Given the description of an element on the screen output the (x, y) to click on. 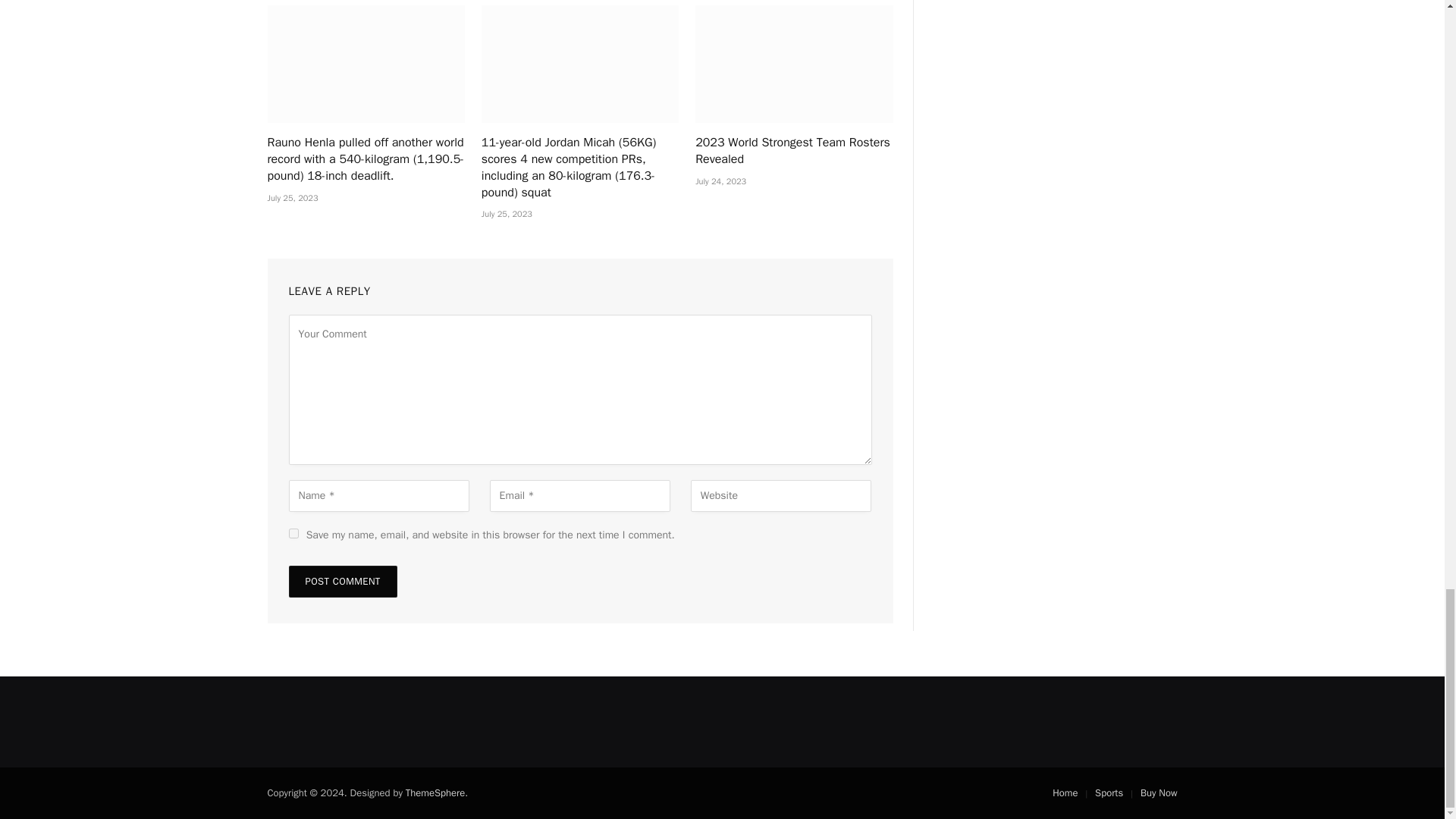
2023 World Strongest Team Rosters Revealed (793, 63)
Post Comment (342, 581)
yes (293, 533)
2023 World Strongest Team Rosters Revealed (793, 151)
